Given the description of an element on the screen output the (x, y) to click on. 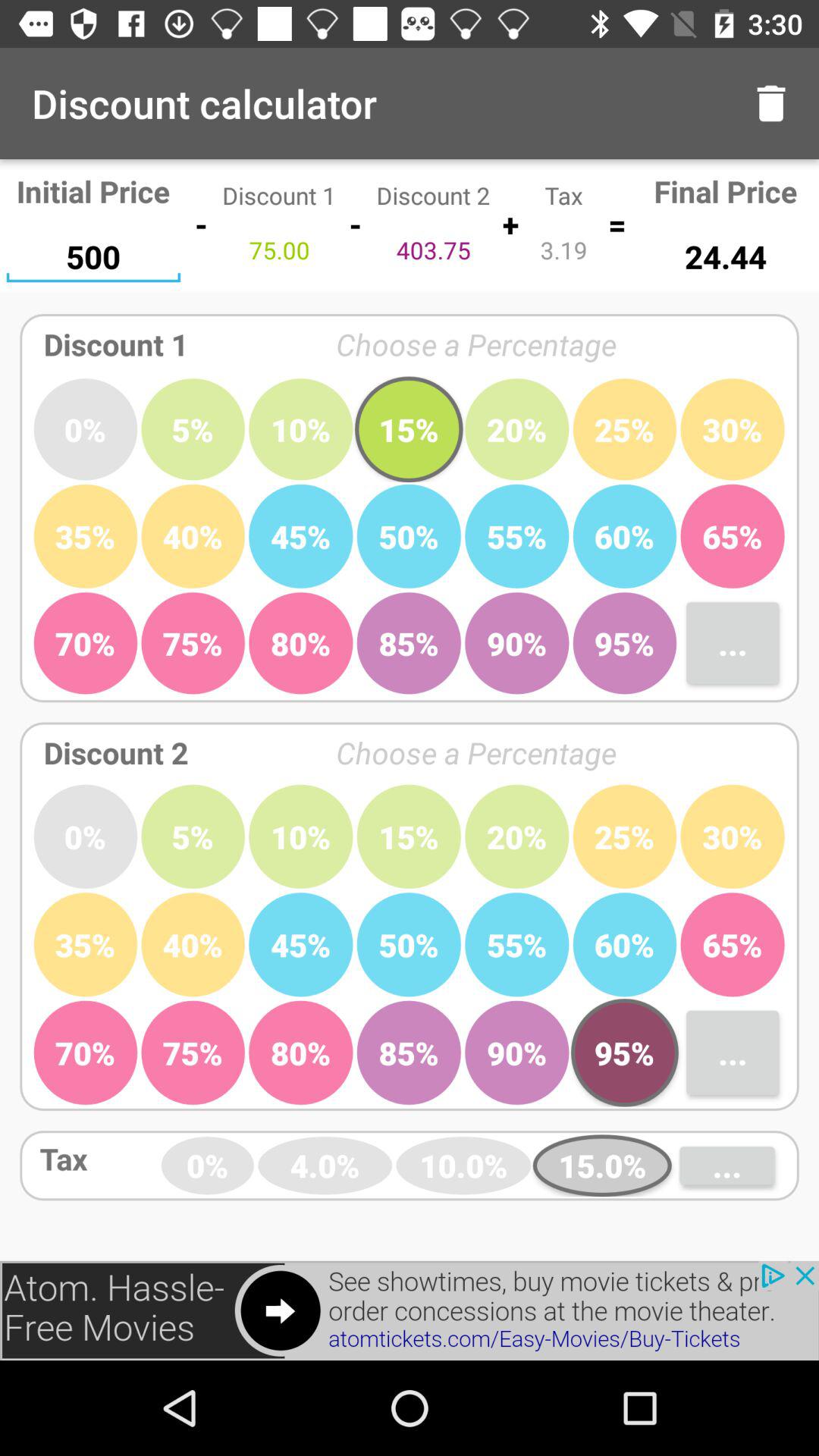
click advertisement (409, 1310)
